Given the description of an element on the screen output the (x, y) to click on. 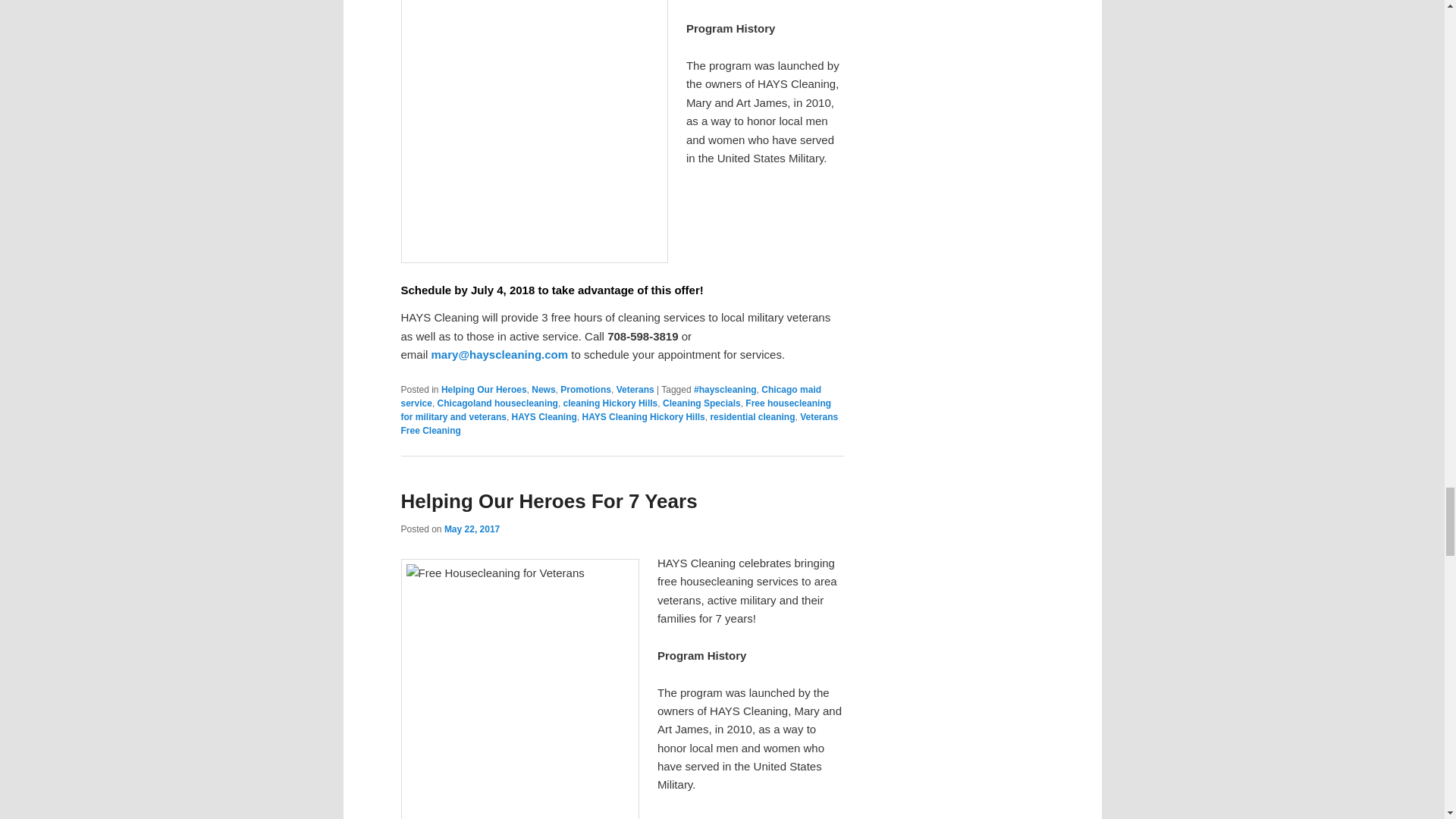
7:47 am (471, 529)
